Given the description of an element on the screen output the (x, y) to click on. 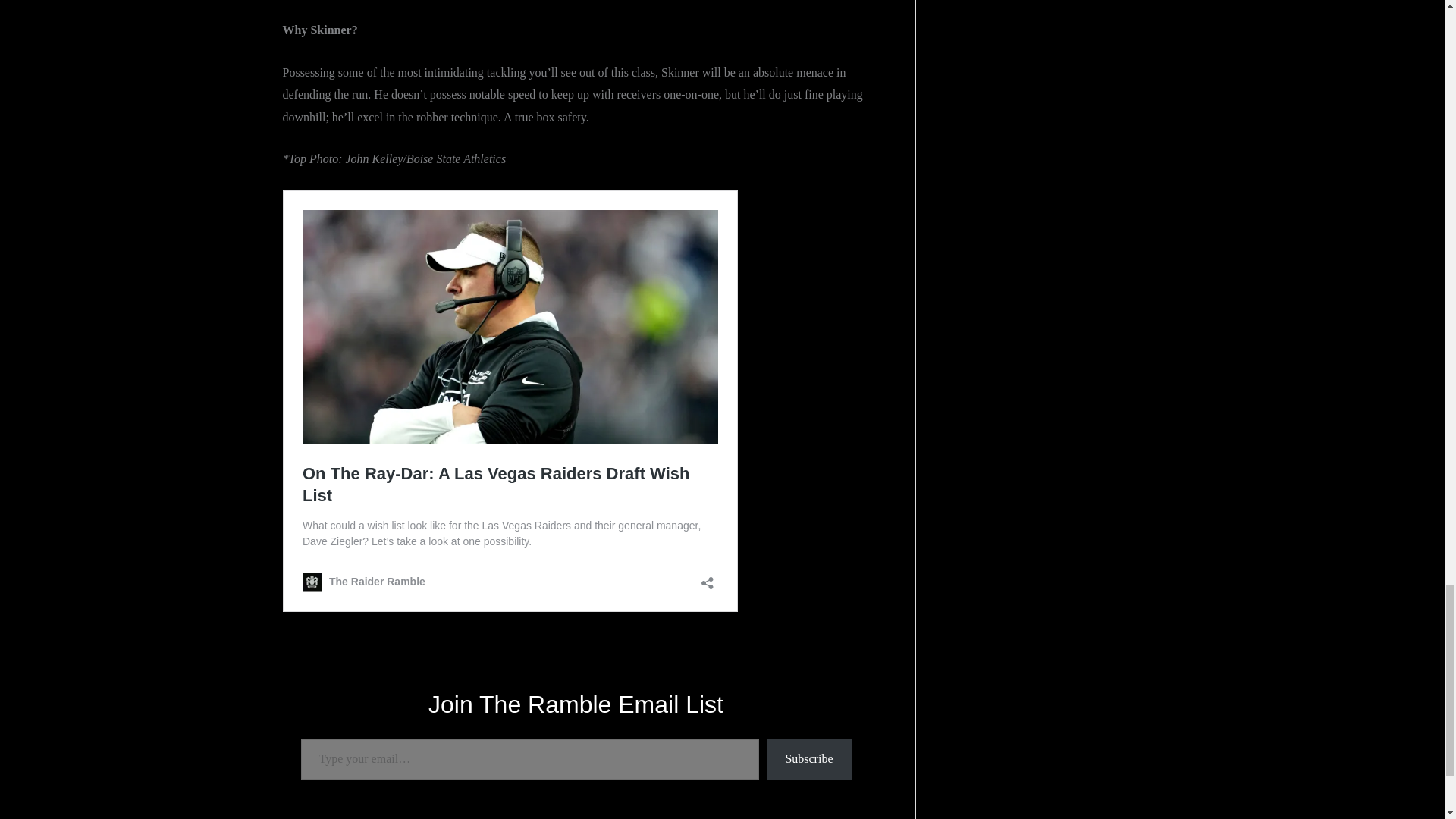
Please fill in this field. (528, 759)
Subscribe (808, 759)
